Given the description of an element on the screen output the (x, y) to click on. 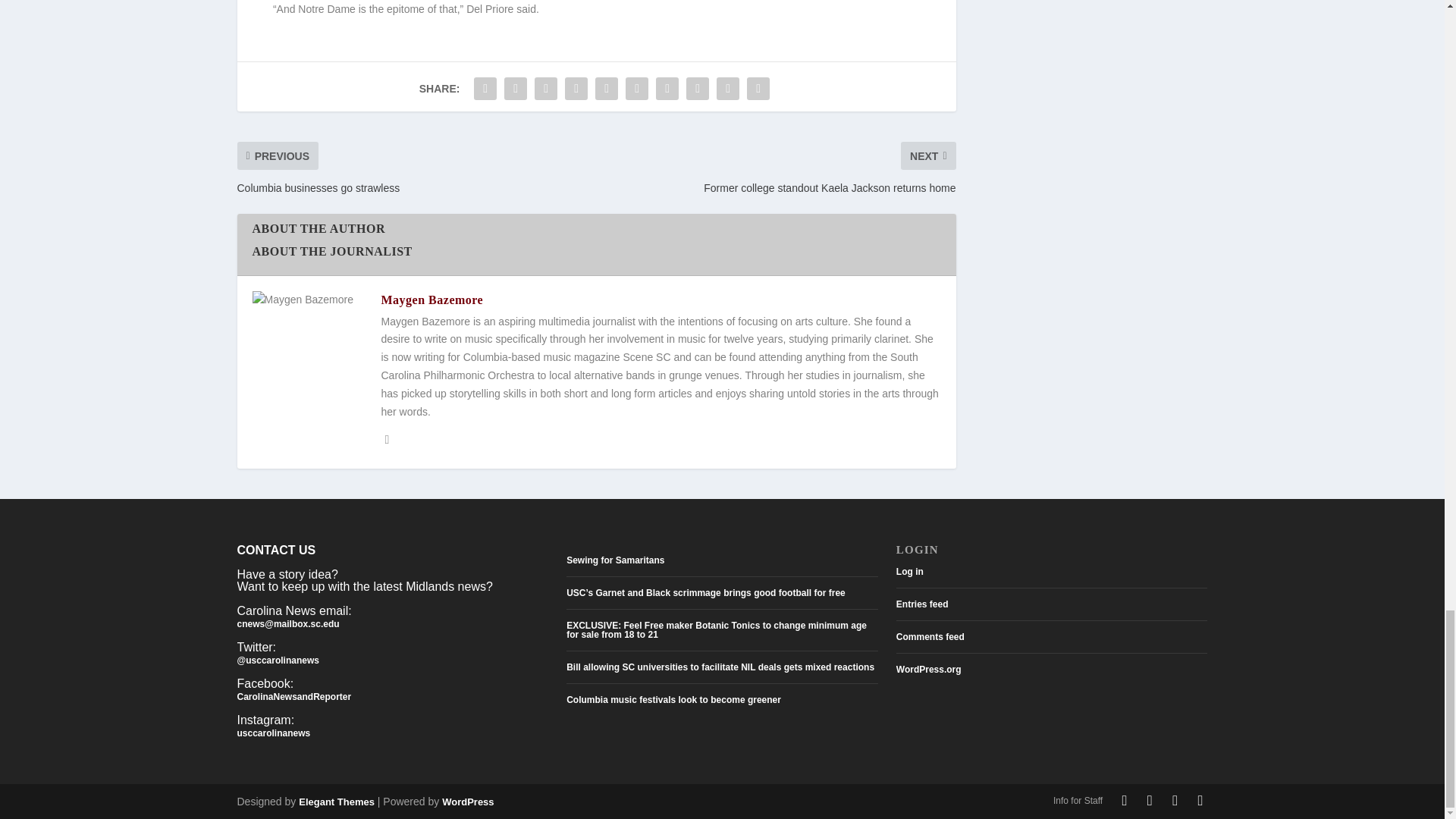
Maygen Bazemore (431, 299)
